Given the description of an element on the screen output the (x, y) to click on. 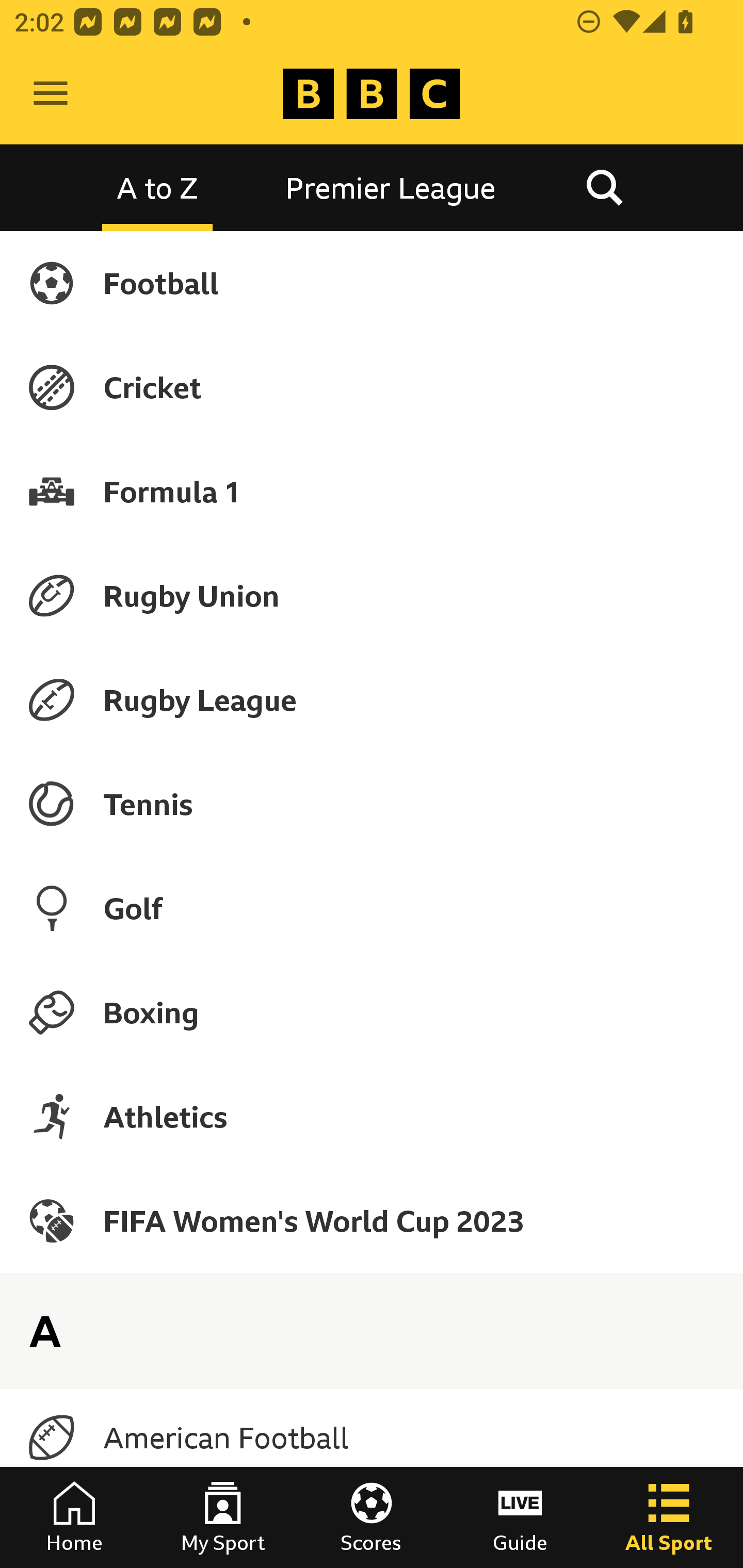
Open Menu (50, 93)
Premier League (390, 187)
Search (604, 187)
Football (371, 282)
Cricket (371, 387)
Formula 1 (371, 491)
Rugby Union (371, 595)
Rugby League (371, 699)
Tennis (371, 804)
Golf (371, 907)
Boxing (371, 1011)
Athletics (371, 1116)
FIFA Women's World Cup 2023 (371, 1220)
American Football (371, 1437)
Home (74, 1517)
My Sport (222, 1517)
Scores (371, 1517)
Guide (519, 1517)
